Given the description of an element on the screen output the (x, y) to click on. 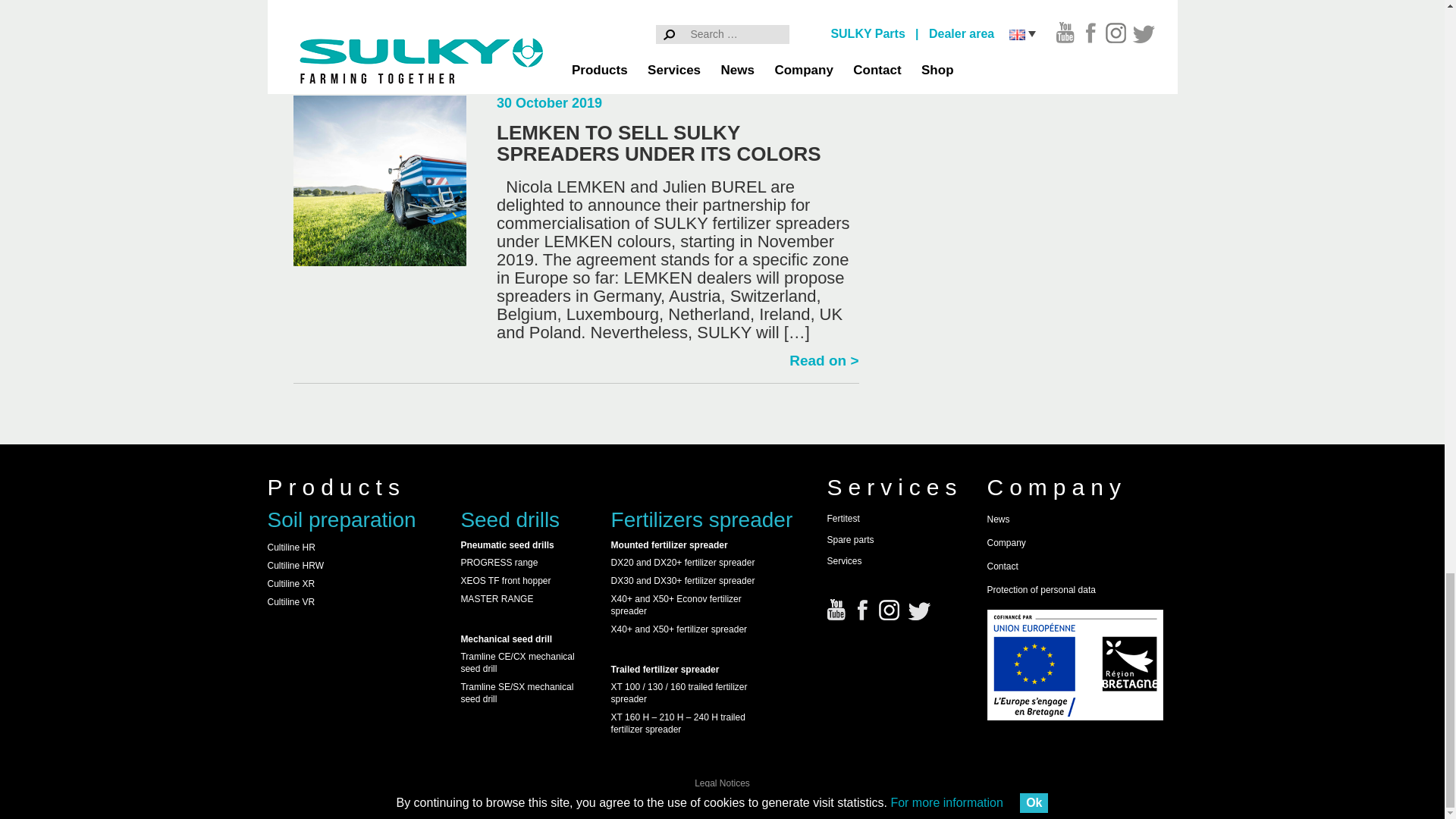
Instgram (889, 608)
Youtube (836, 608)
Facebook (862, 608)
Twitter (920, 608)
